Given the description of an element on the screen output the (x, y) to click on. 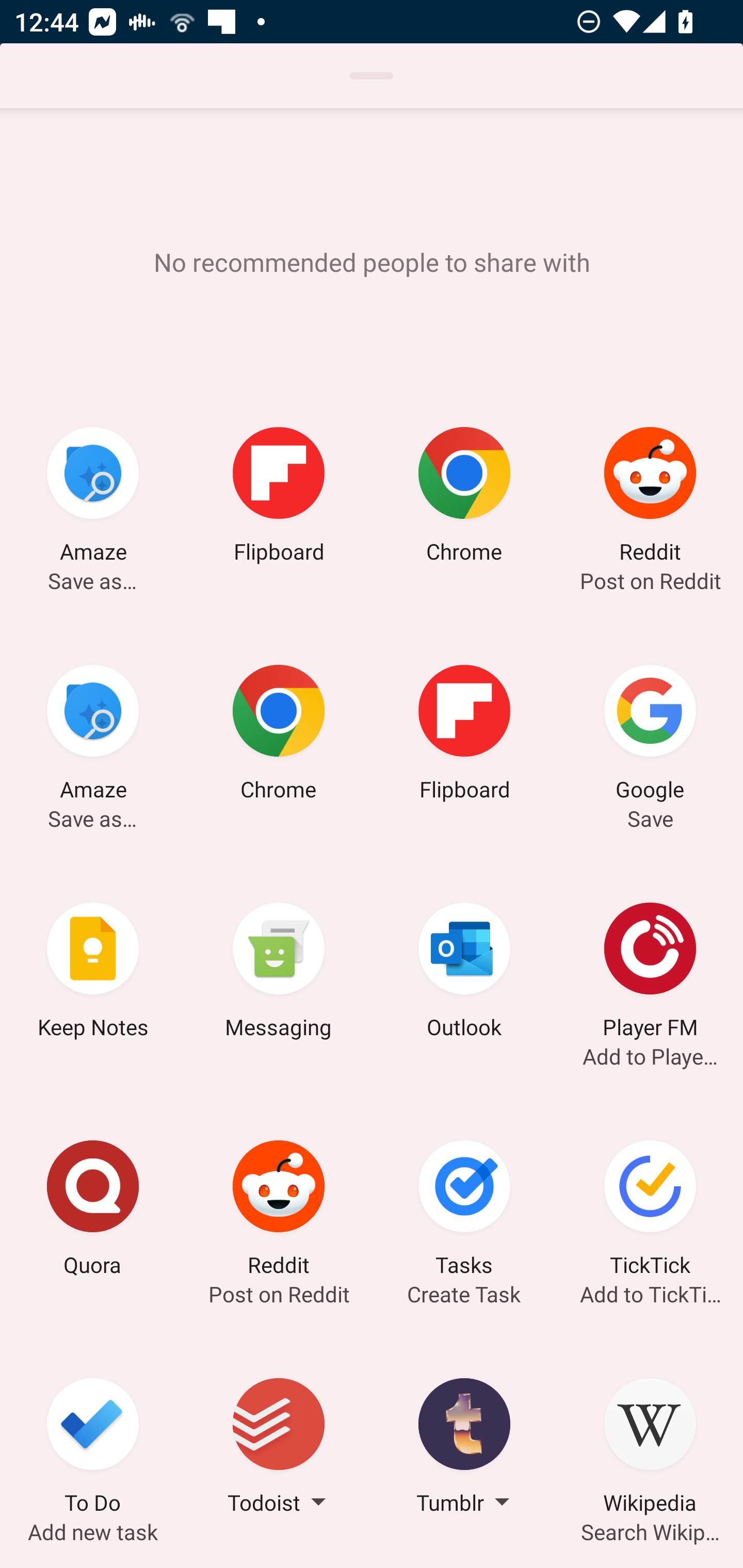
Amaze Save as… (92, 497)
Flipboard (278, 497)
Chrome (464, 497)
Reddit Post on Reddit (650, 497)
Amaze Save as… (92, 735)
Chrome (278, 735)
Flipboard (464, 735)
Google Save (650, 735)
Keep Notes (92, 973)
Messaging (278, 973)
Outlook (464, 973)
Player FM Add to Player FM (650, 973)
Quora (92, 1210)
Reddit Post on Reddit (278, 1210)
Tasks Create Task (464, 1210)
TickTick Add to TickTick (650, 1210)
To Do Add new task (92, 1448)
Todoist (278, 1448)
Tumblr (464, 1448)
Wikipedia Search Wikipedia (650, 1448)
